Given the description of an element on the screen output the (x, y) to click on. 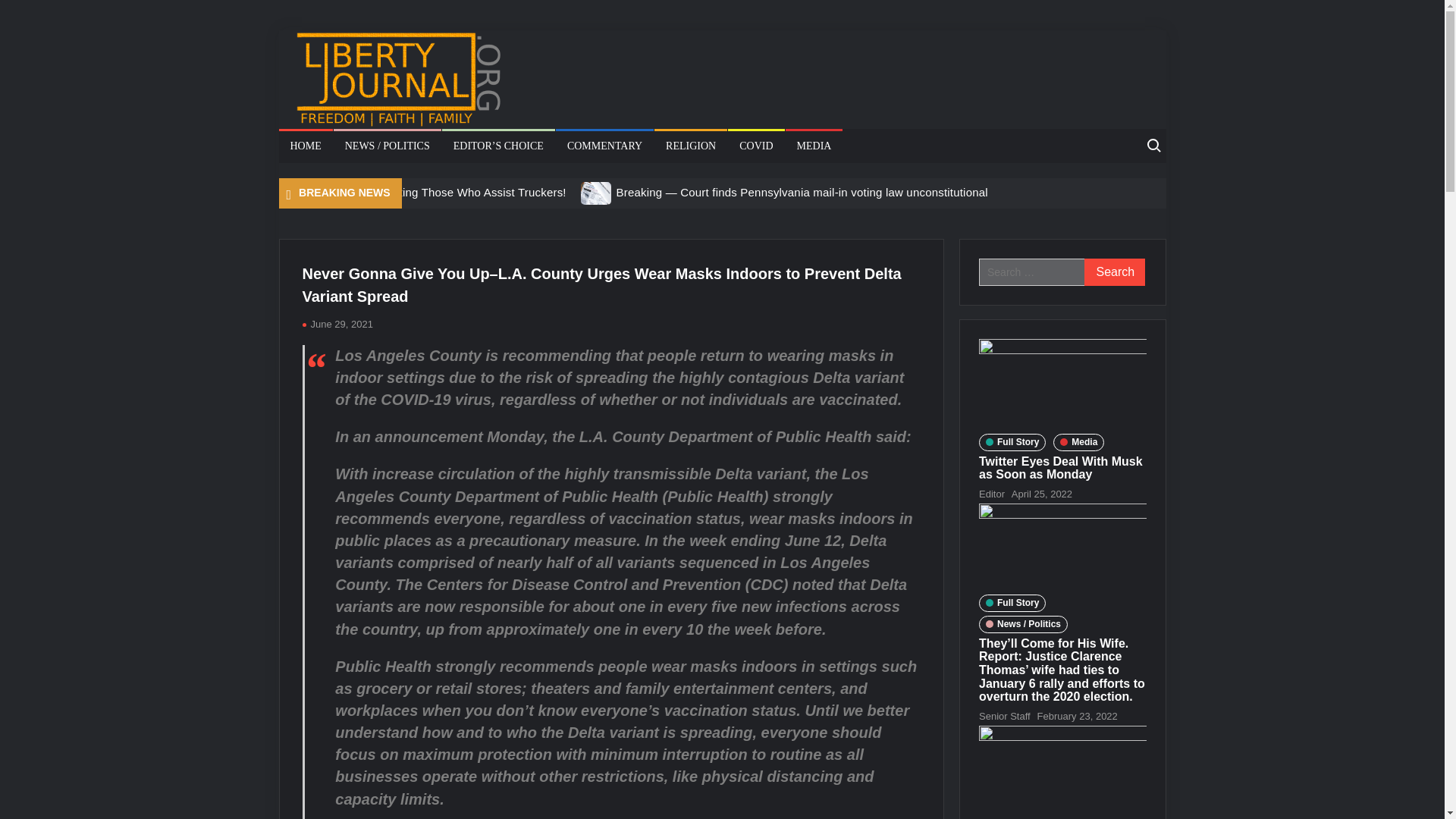
Search (1114, 271)
Oh Nooooo. Rock legend Meatloaf dead at 74 (799, 218)
Cops Now Arresting Those Who Assist Truckers! (440, 192)
Twitter Eyes Deal With Musk as Soon as Monday (1060, 468)
HOME (306, 145)
COMMENTARY (604, 145)
Cops Now Arresting Those Who Assist Truckers! (440, 192)
Cops Now Arresting Those Who Assist Truckers! (295, 192)
RELIGION (689, 145)
